Given the description of an element on the screen output the (x, y) to click on. 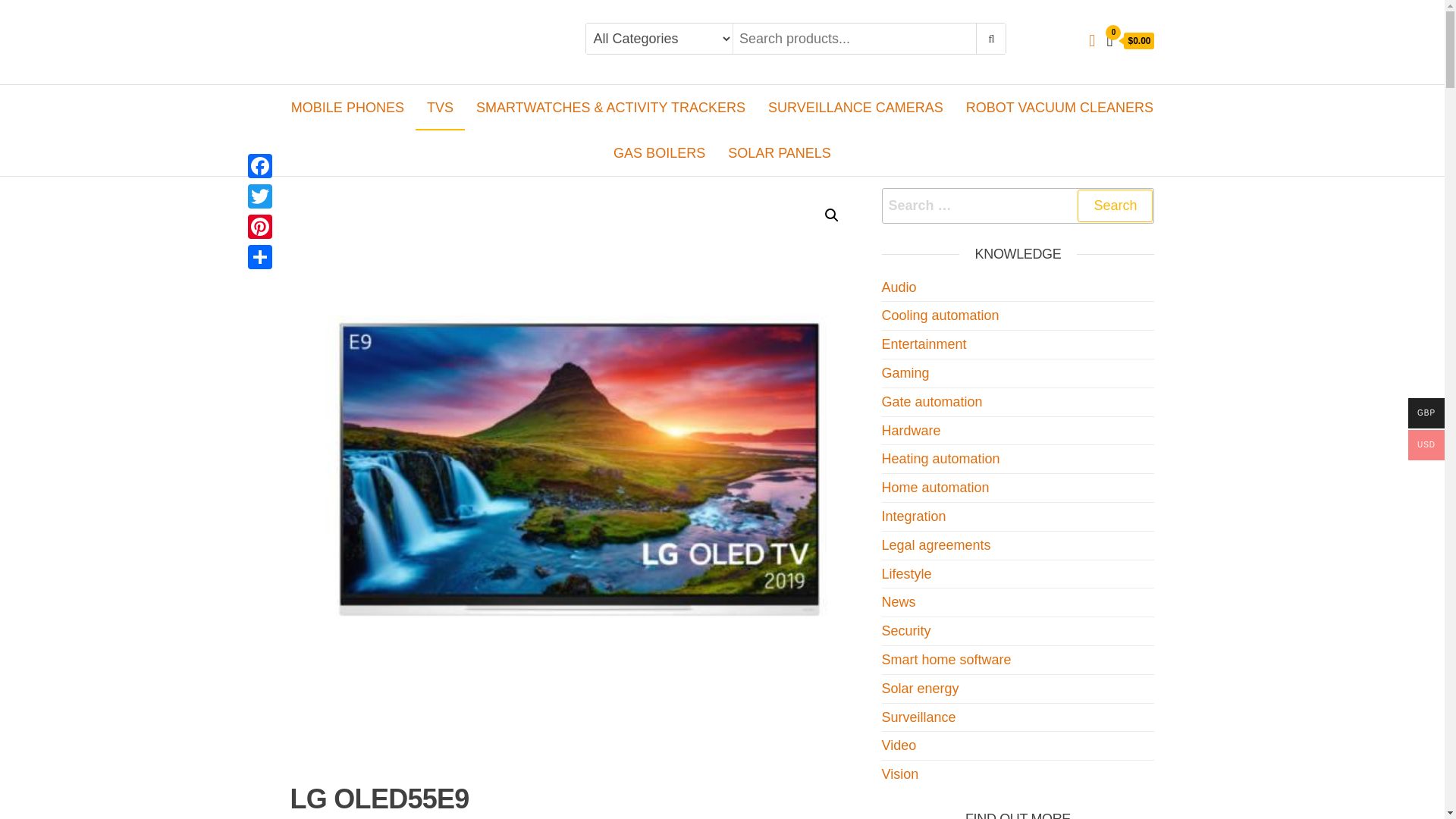
View your shopping cart (1130, 41)
Mobile Phones (346, 107)
SOLAR PANELS (779, 153)
TVs (439, 107)
TVS (439, 107)
Solar Panels (779, 153)
MOBILE PHONES (346, 107)
Surveillance Cameras (856, 107)
SURVEILLANCE CAMERAS (856, 107)
